Given the description of an element on the screen output the (x, y) to click on. 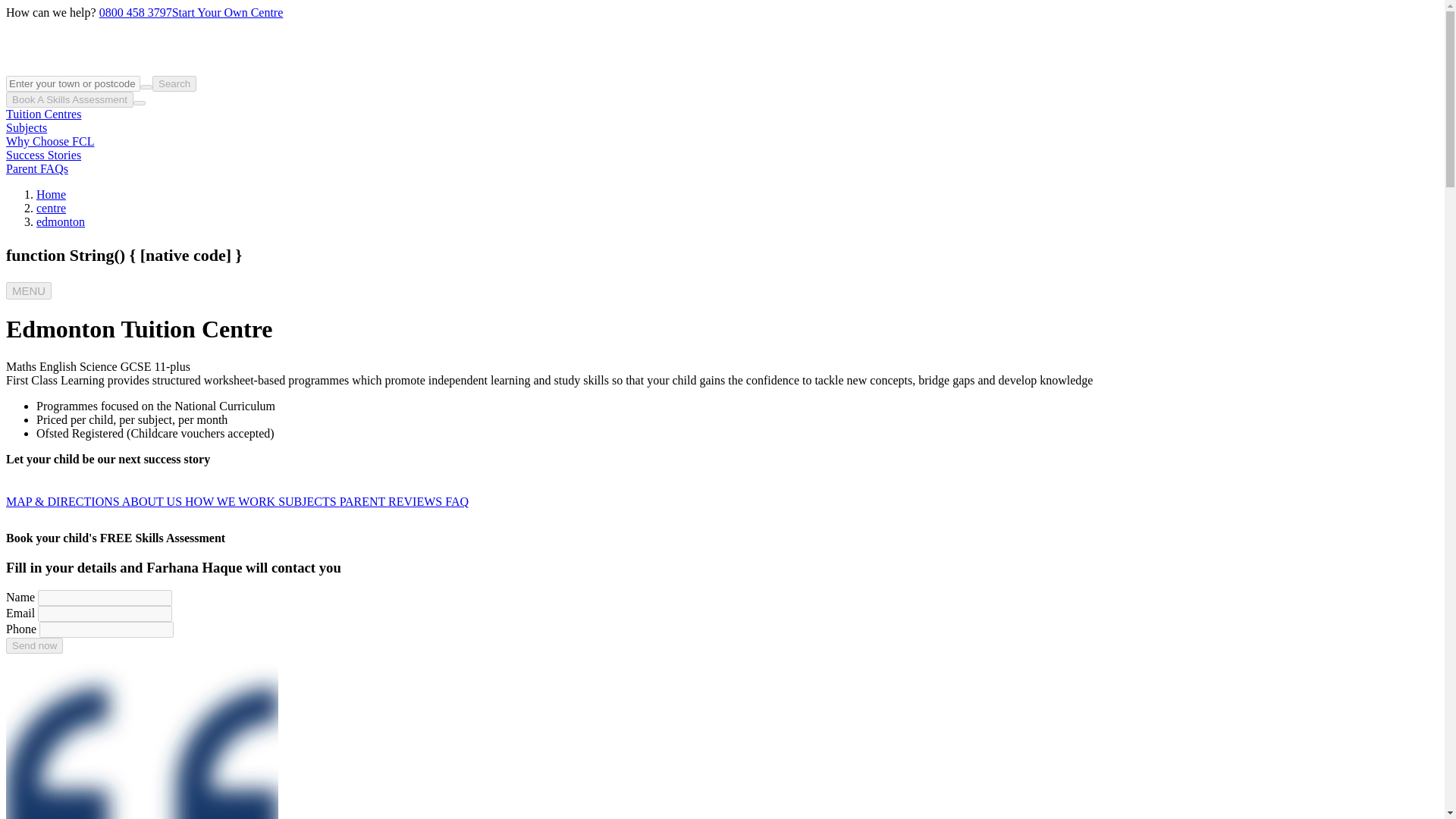
PARENT REVIEWS (392, 501)
Search (174, 83)
centre (50, 207)
ABOUT US (153, 501)
Send now (33, 645)
Subjects (25, 127)
HOW WE WORK (231, 501)
Success Stories (43, 154)
SUBJECTS (308, 501)
0800 458 3797 (135, 11)
Start Your Own Centre (227, 11)
Why Choose FCL (49, 141)
MENU (27, 290)
Parent FAQs (36, 168)
Home (50, 194)
